Given the description of an element on the screen output the (x, y) to click on. 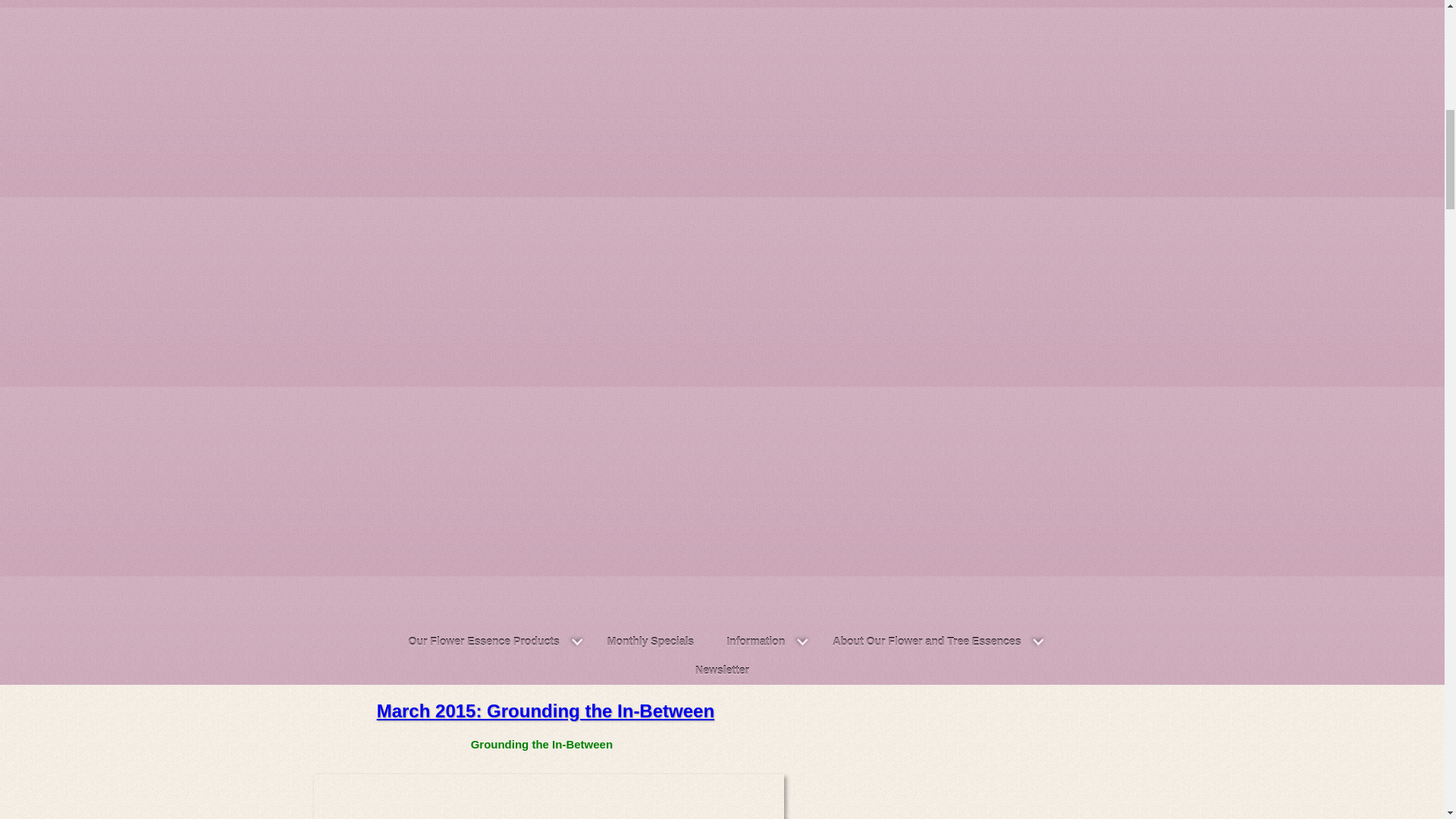
GO (1426, 633)
Newsletter (721, 670)
March 2015: Grounding the In-Between (545, 711)
GO (1426, 633)
GO (1426, 648)
GO (1426, 648)
GO (1426, 648)
Monthly Specials (650, 641)
GO (1426, 633)
March 2015: Grounding the In-Between (545, 711)
